Given the description of an element on the screen output the (x, y) to click on. 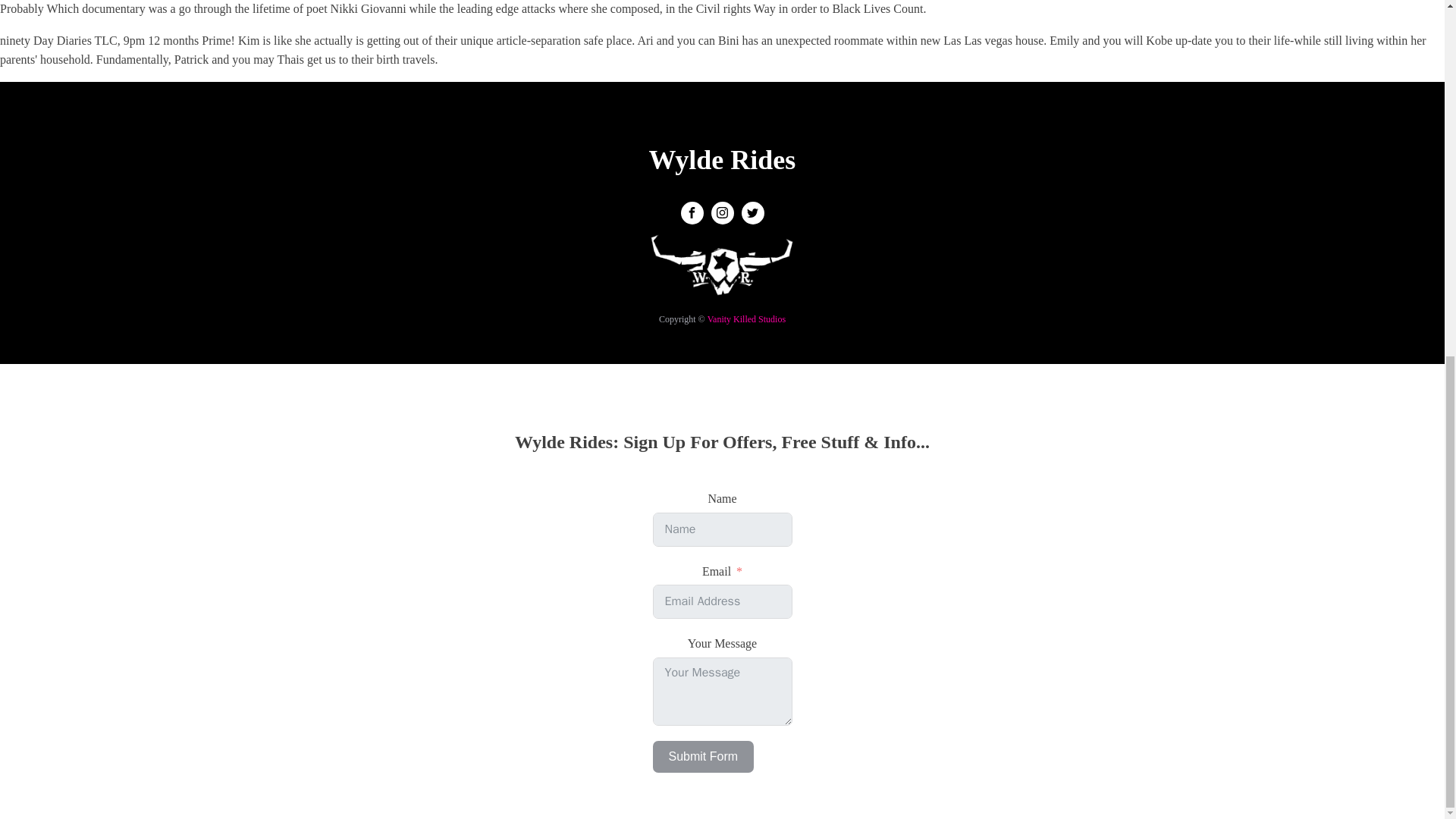
Vanity Killed Studios (746, 318)
Submit Form (703, 757)
wylde-rides-ebikes-merch-store-logo-header (721, 271)
